Given the description of an element on the screen output the (x, y) to click on. 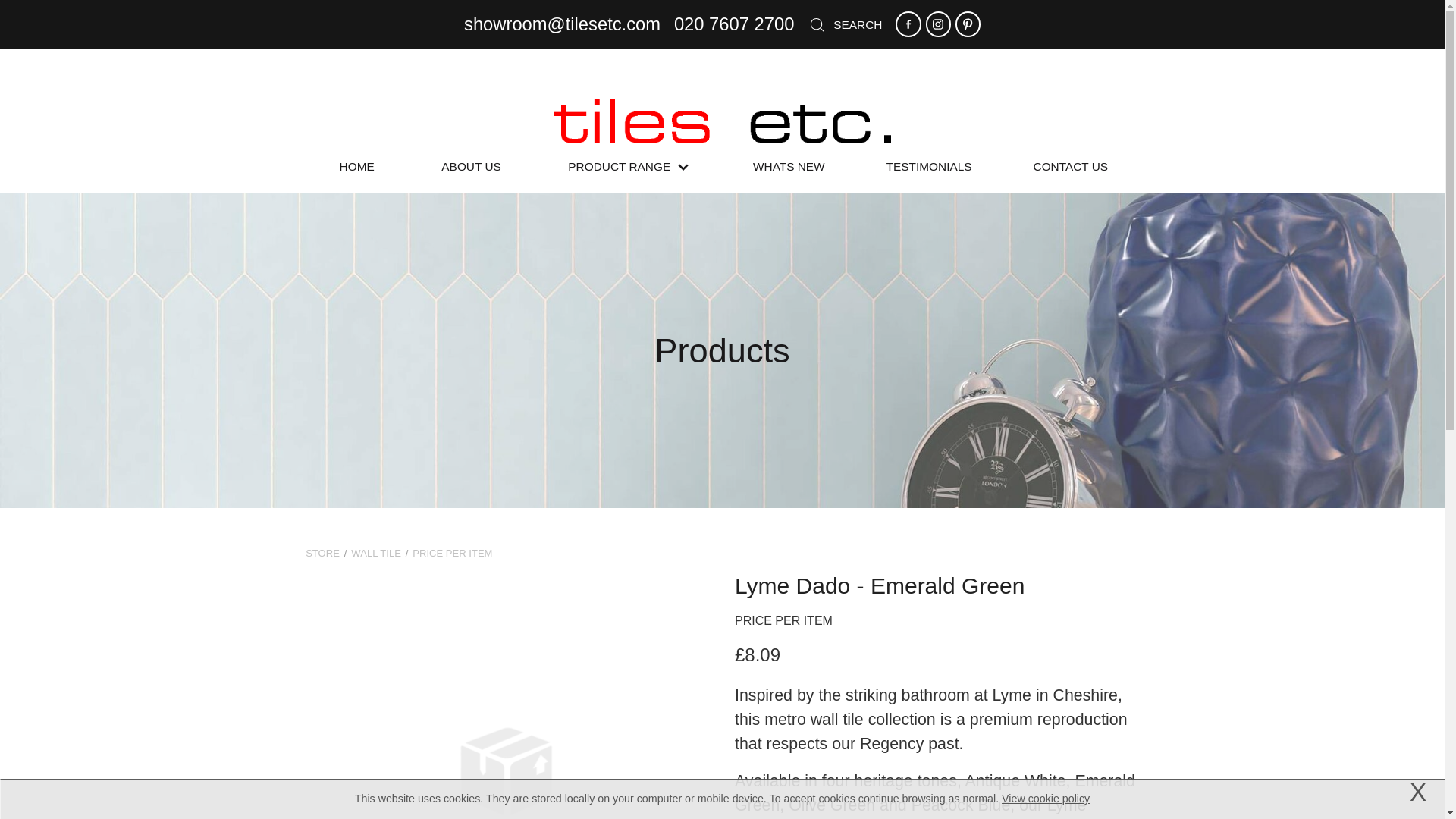
PRODUCT RANGE (627, 167)
STORE (322, 552)
ABOUT US (470, 167)
A link to this website's Facebook. (907, 23)
CONTACT US (1070, 167)
SEARCH (845, 24)
PRICE PER ITEM (452, 552)
WALL TILE (375, 552)
HOME (356, 167)
WHATS NEW (788, 167)
A link to this website's Instagram. (938, 23)
TESTIMONIALS (929, 167)
A link to this website's Pinterest. (967, 23)
